Given the description of an element on the screen output the (x, y) to click on. 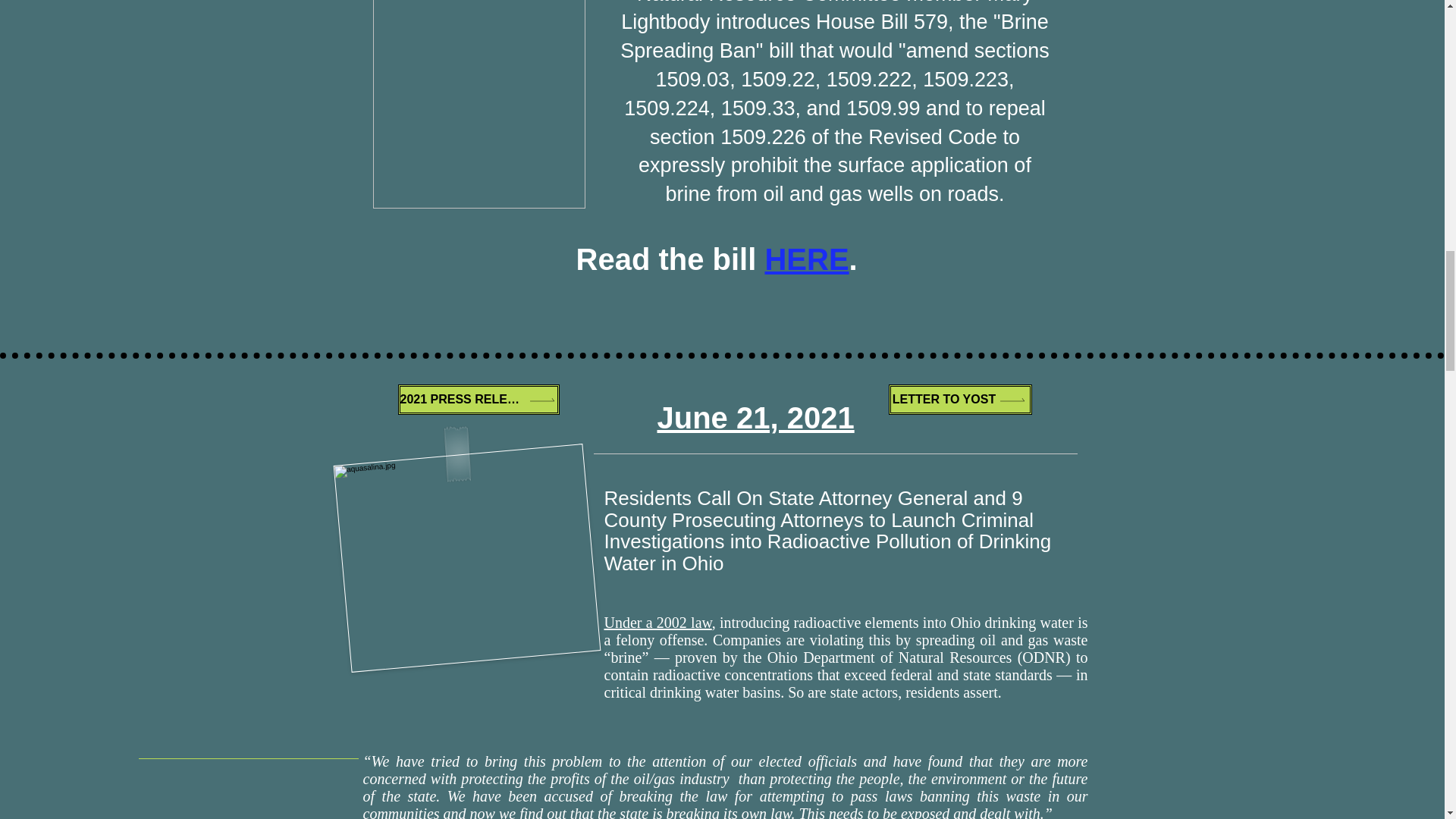
LETTER TO YOST (960, 399)
2021 PRESS RELEASE (478, 399)
Screen Shot 2023-12-11 at 2.32.03 PM.png (478, 104)
HERE (806, 259)
Under a 2002 law (657, 622)
